Given the description of an element on the screen output the (x, y) to click on. 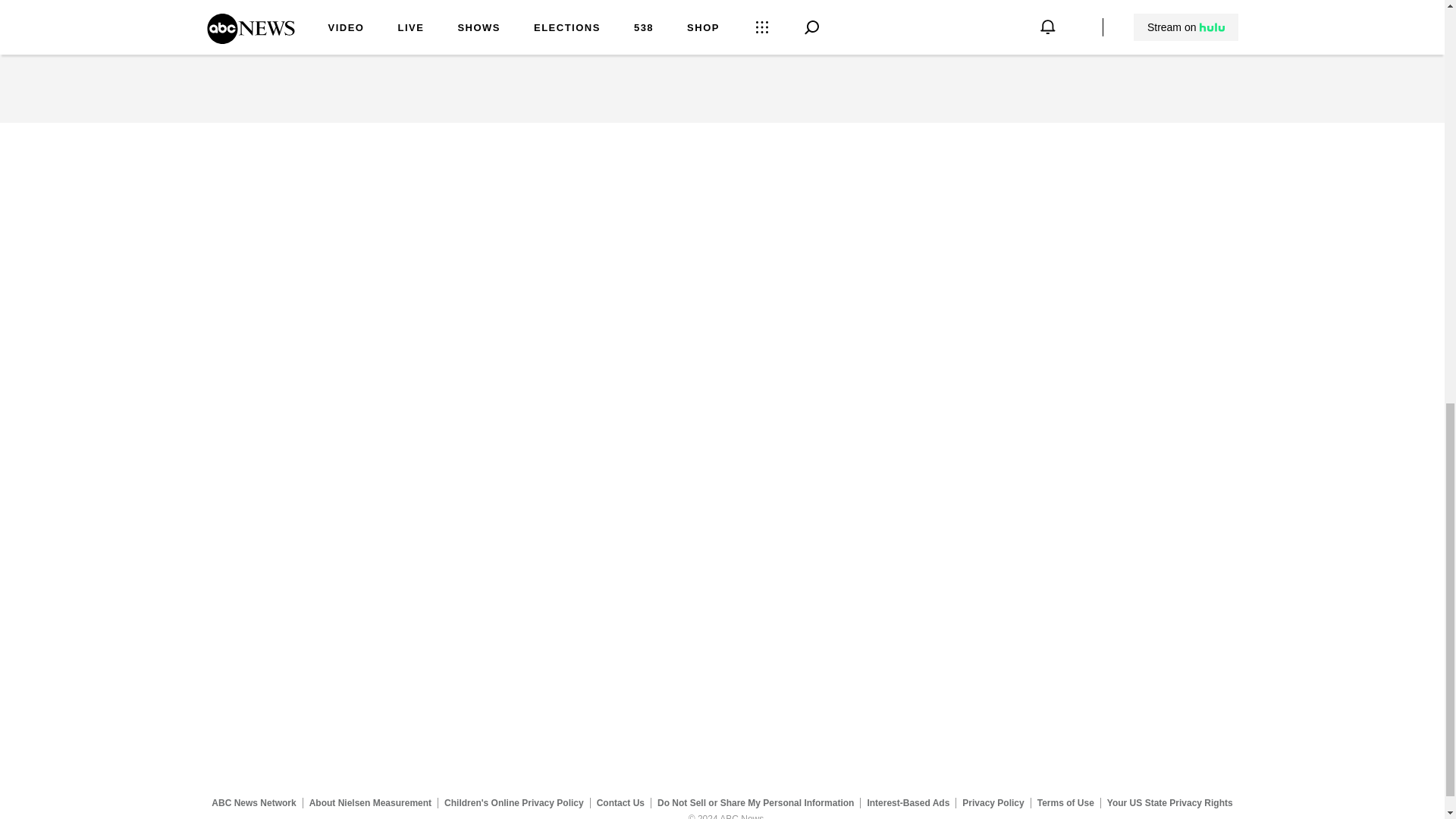
Interest-Based Ads (908, 802)
Do Not Sell or Share My Personal Information (755, 802)
About Nielsen Measurement (370, 802)
Contact Us (620, 802)
Privacy Policy (993, 802)
ABC News Network (253, 802)
Your US State Privacy Rights (1169, 802)
Children's Online Privacy Policy (514, 802)
Terms of Use (1065, 802)
